Given the description of an element on the screen output the (x, y) to click on. 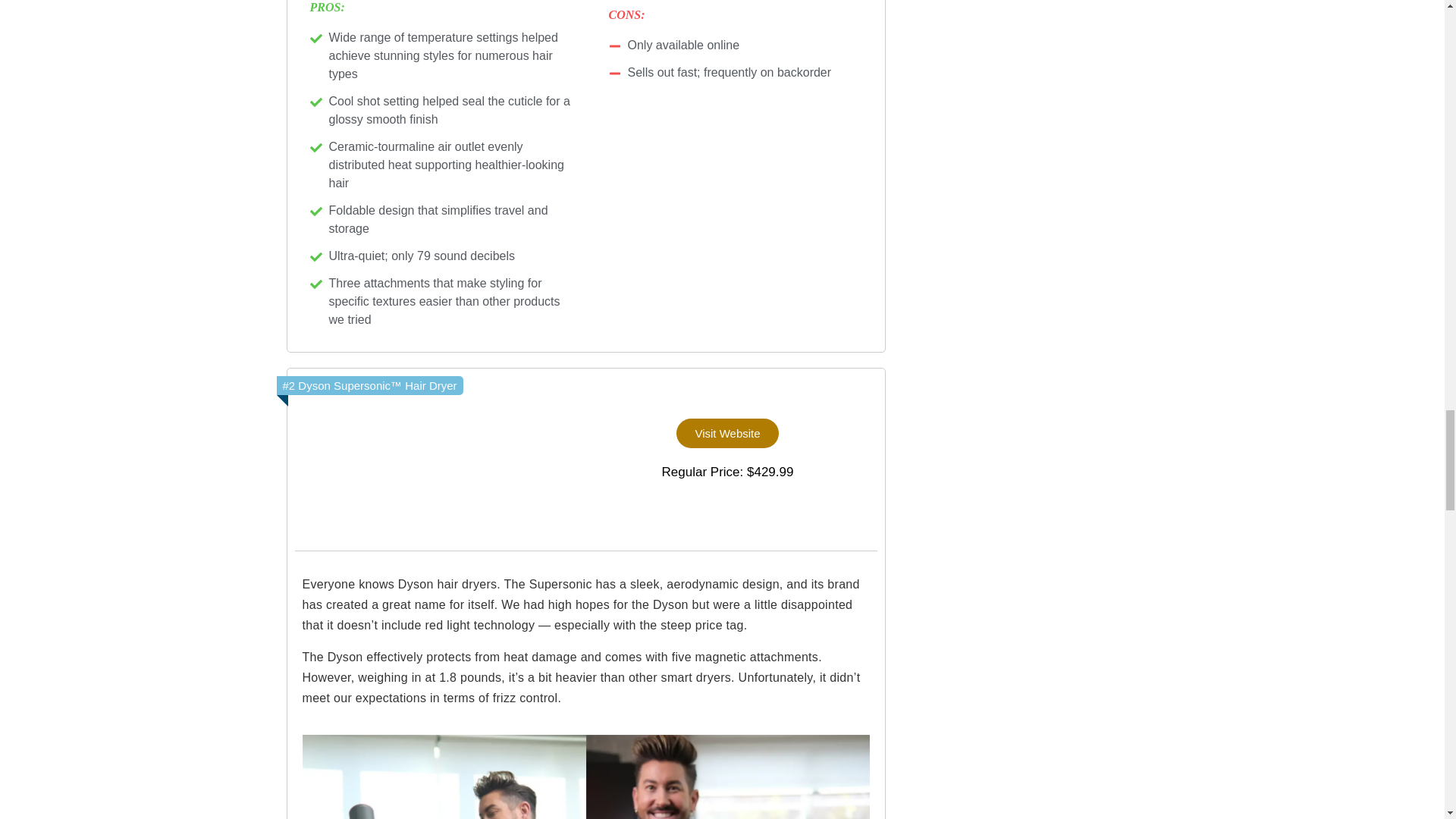
Visit Website (727, 432)
